Given the description of an element on the screen output the (x, y) to click on. 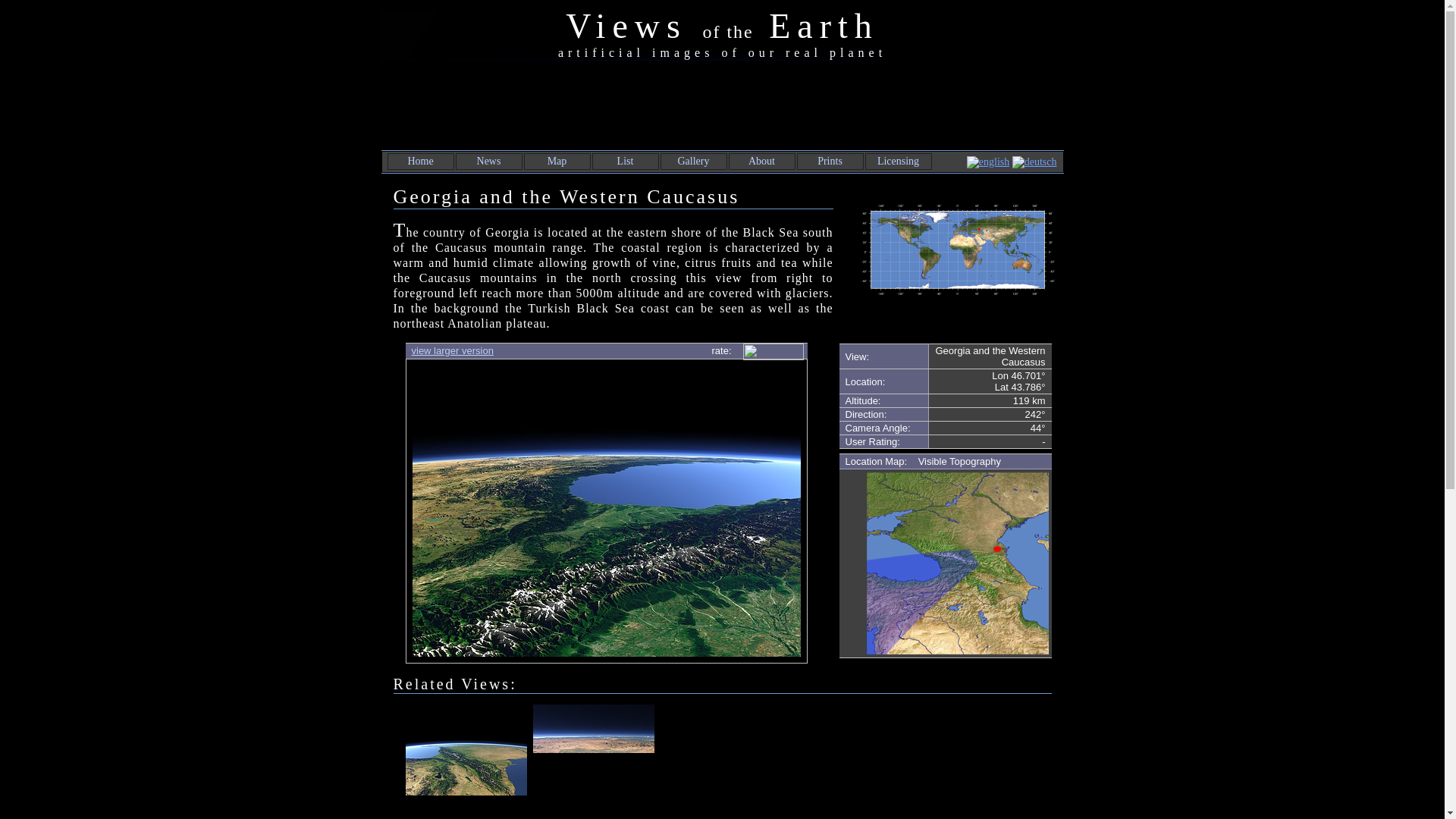
Licensing (897, 161)
News (488, 161)
Gallery (694, 161)
Topography (975, 460)
Home (419, 161)
view larger version (451, 350)
Visible (932, 460)
About (761, 161)
Prints (829, 161)
List (625, 161)
